Given the description of an element on the screen output the (x, y) to click on. 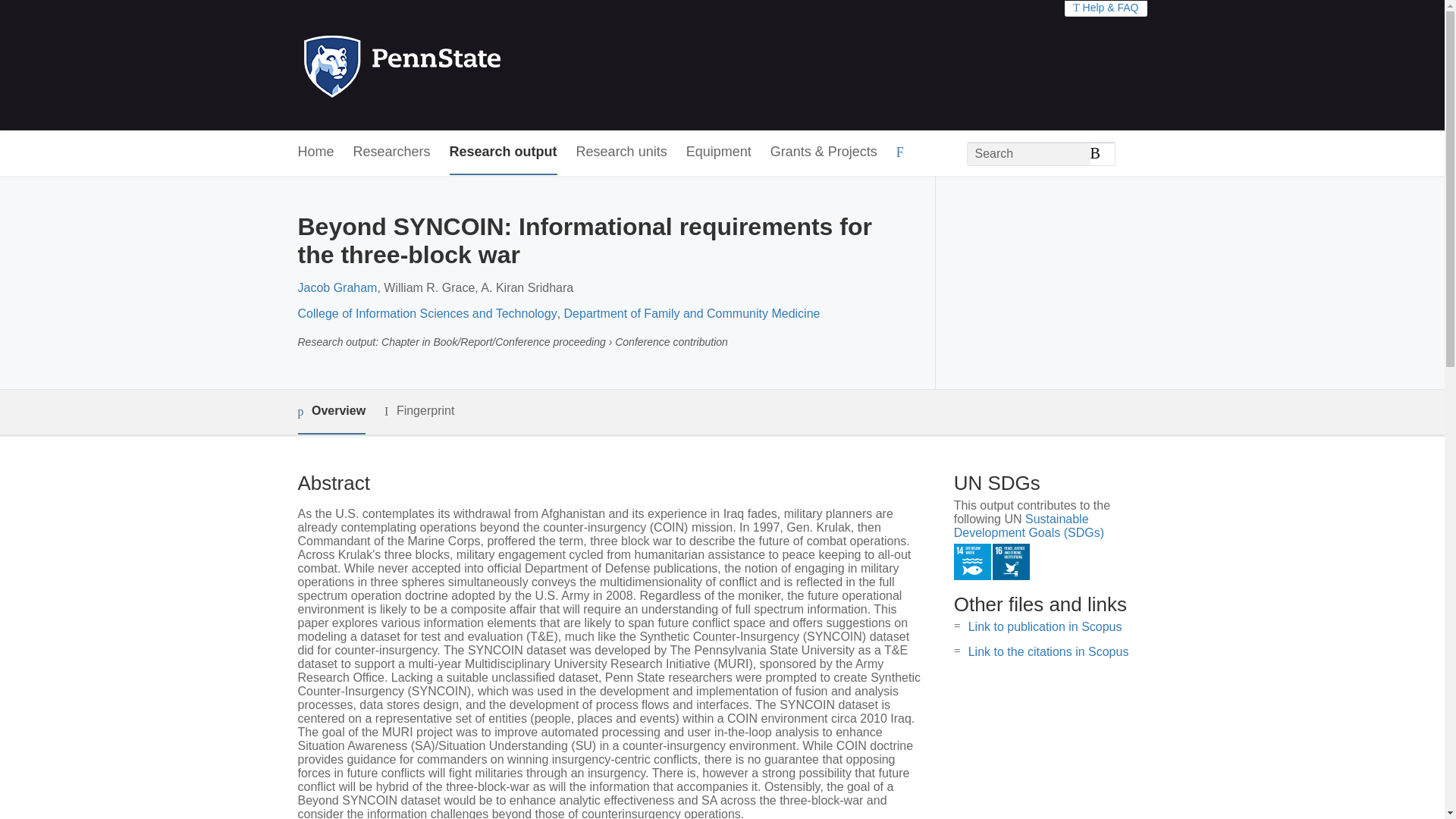
College of Information Sciences and Technology (426, 313)
Link to publication in Scopus (1045, 626)
Research units (621, 152)
Jacob Graham (337, 287)
Researchers (391, 152)
Department of Family and Community Medicine (692, 313)
Link to the citations in Scopus (1048, 651)
Research output (503, 152)
Fingerprint (419, 411)
